Given the description of an element on the screen output the (x, y) to click on. 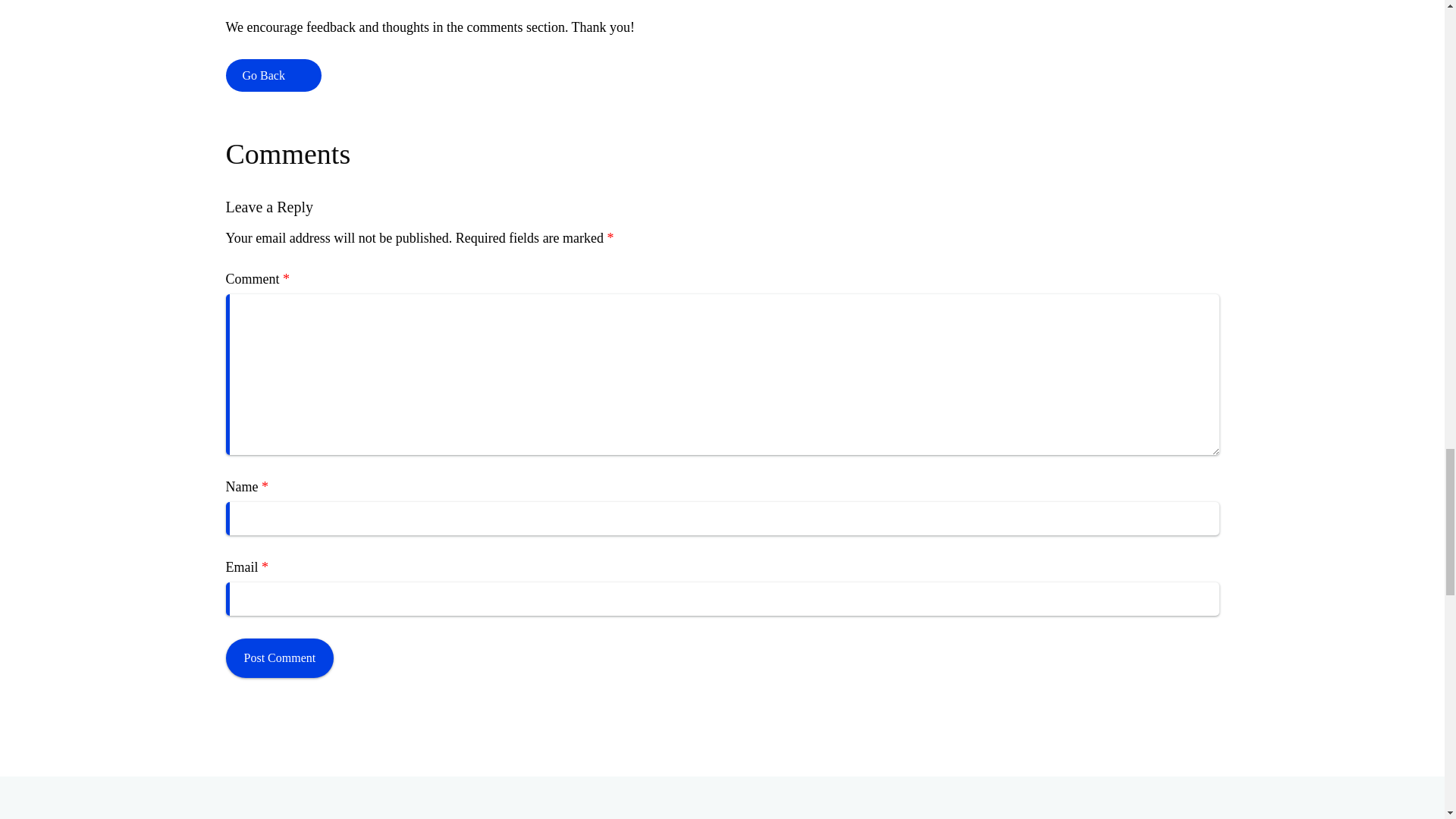
Post Comment (279, 658)
Go Back (273, 74)
Post Comment (279, 658)
